Given the description of an element on the screen output the (x, y) to click on. 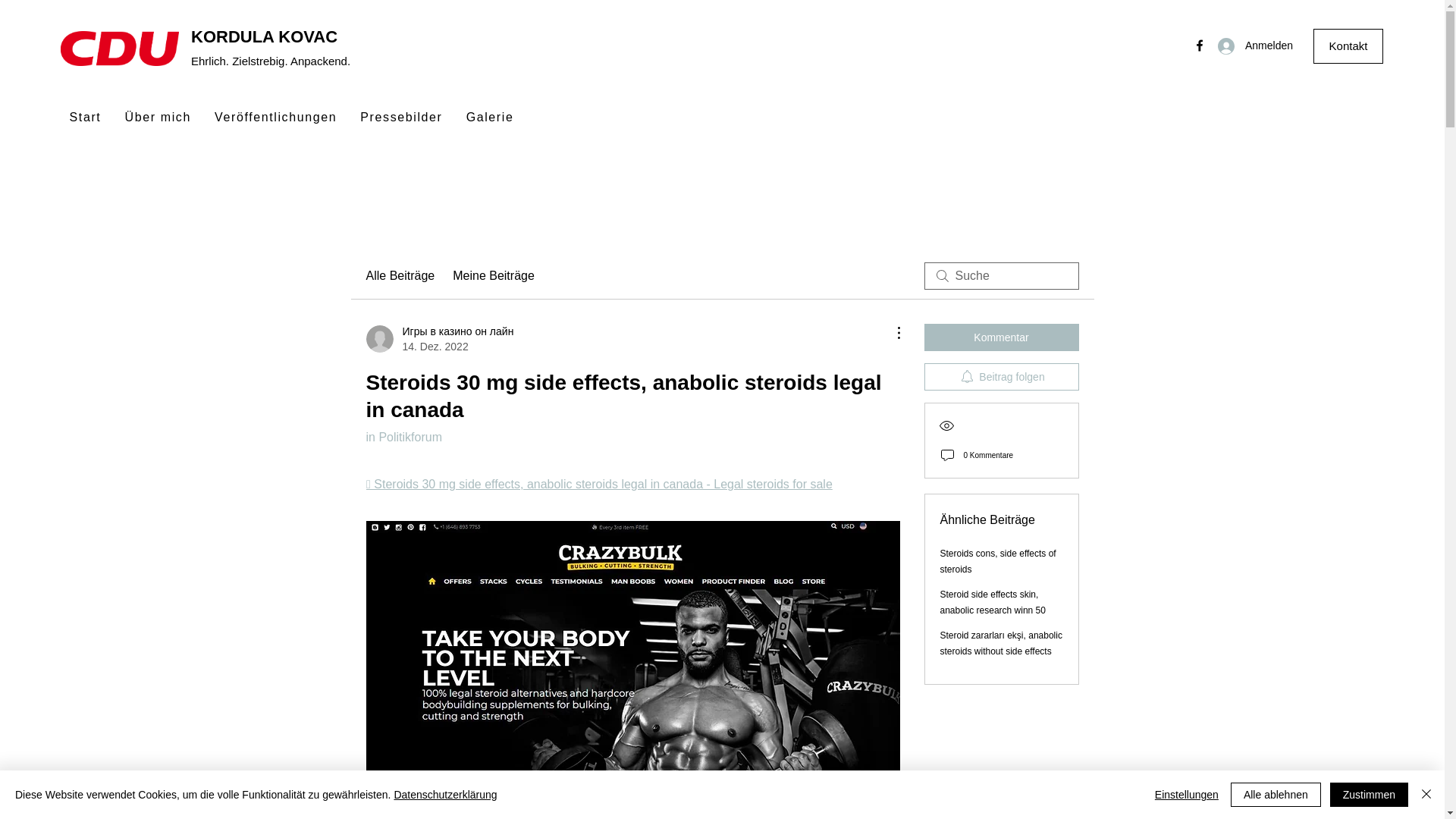
KORDULA KOVAC (263, 36)
Galerie (489, 118)
Pressebilder (401, 118)
Anmelden (1249, 45)
Kontakt (1348, 45)
Steroids cons, side effects of steroids (998, 560)
Beitrag folgen (1000, 376)
Steroid side effects skin, anabolic research winn 50 (992, 601)
Alle ablehnen (1275, 794)
Start (85, 118)
